Given the description of an element on the screen output the (x, y) to click on. 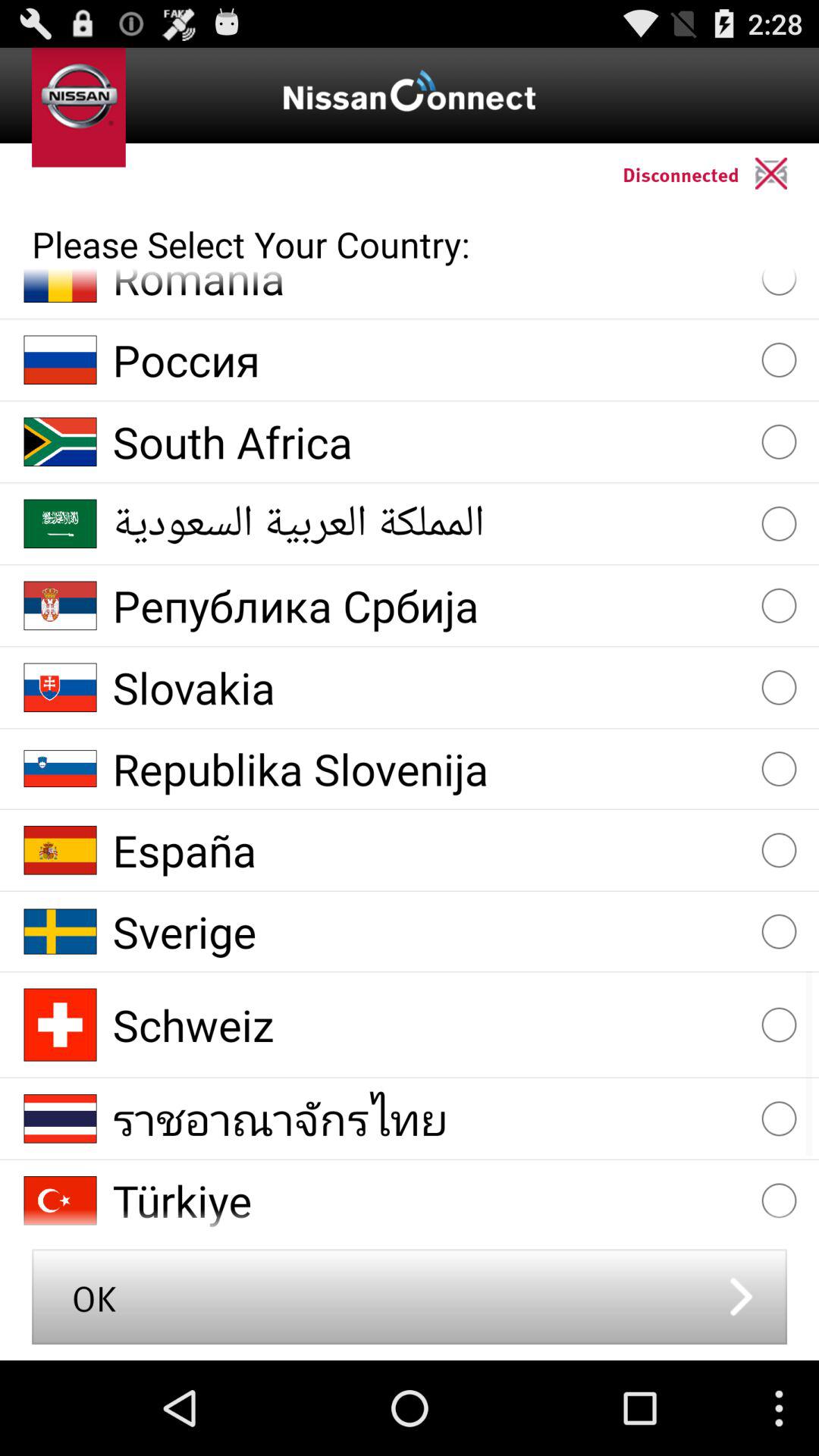
turn off the app above the please select your app (787, 173)
